Given the description of an element on the screen output the (x, y) to click on. 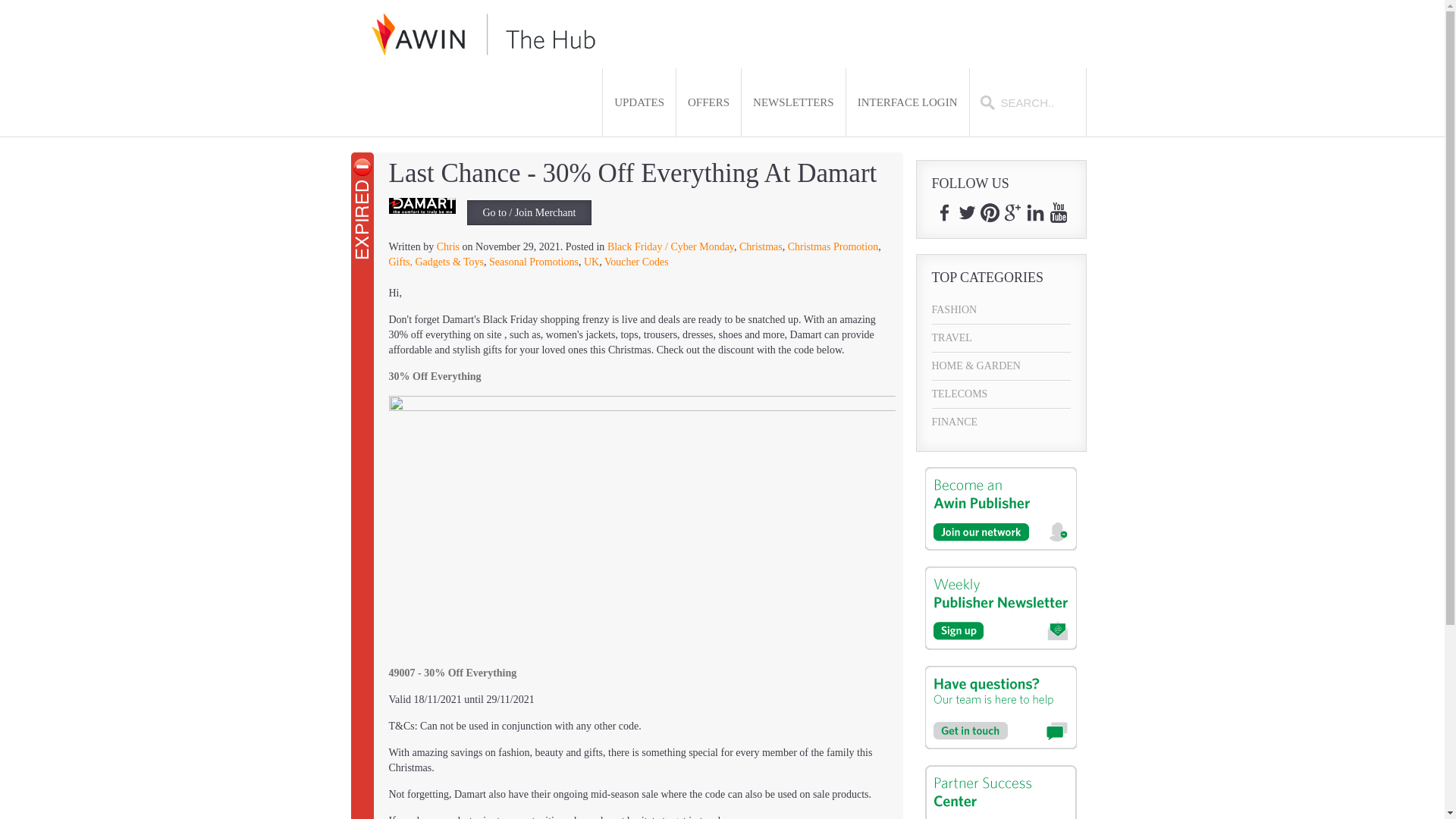
Seasonal Promotions (533, 261)
Christmas Promotion (832, 246)
INTERFACE LOGIN (907, 102)
Chris (448, 246)
TRAVEL (1000, 338)
Interface Login (907, 102)
FASHION (1000, 309)
TELECOMS (1000, 393)
Voucher Codes (636, 261)
Chris (448, 246)
